Given the description of an element on the screen output the (x, y) to click on. 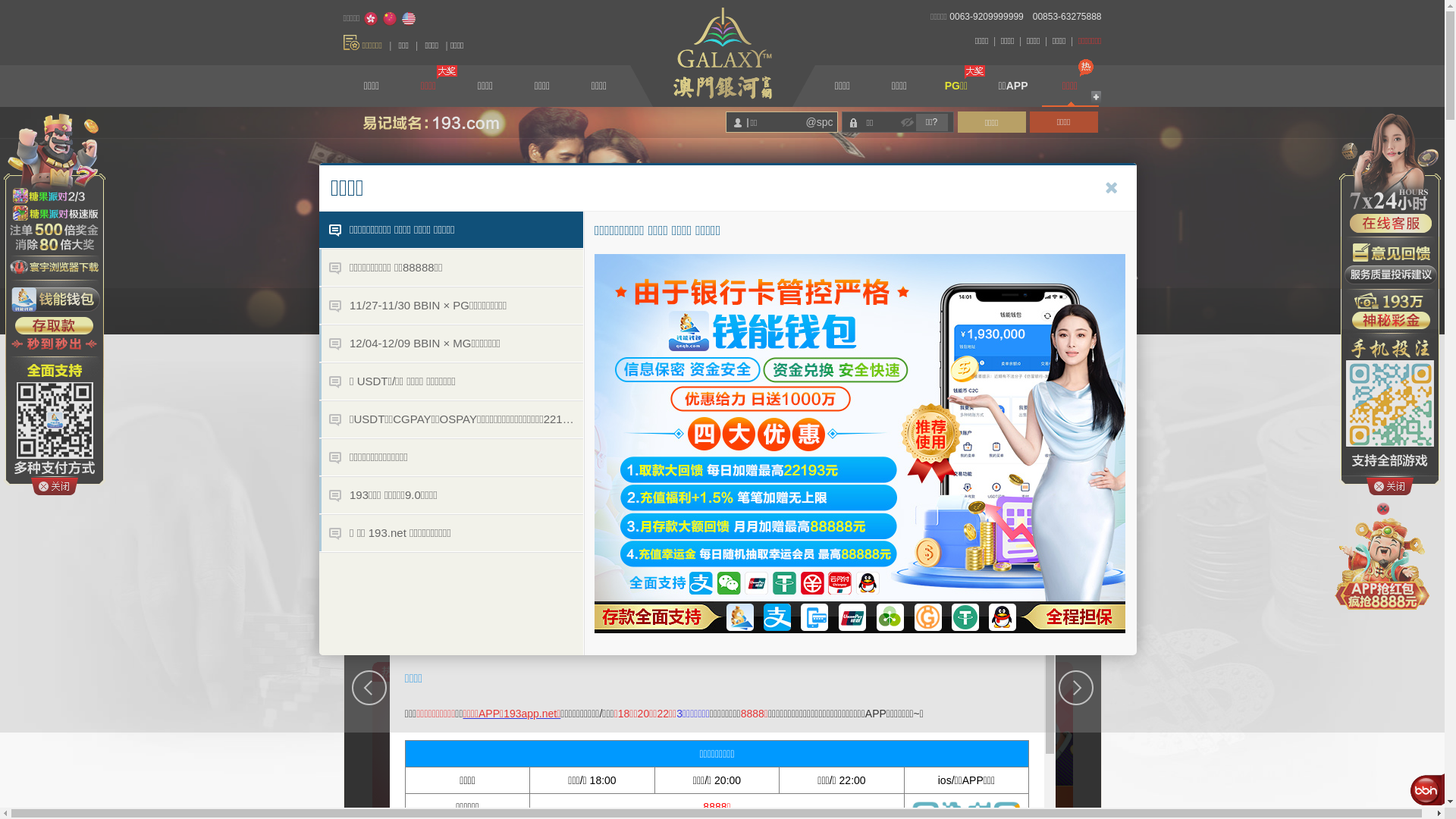
English Element type: hover (408, 18)
